Given the description of an element on the screen output the (x, y) to click on. 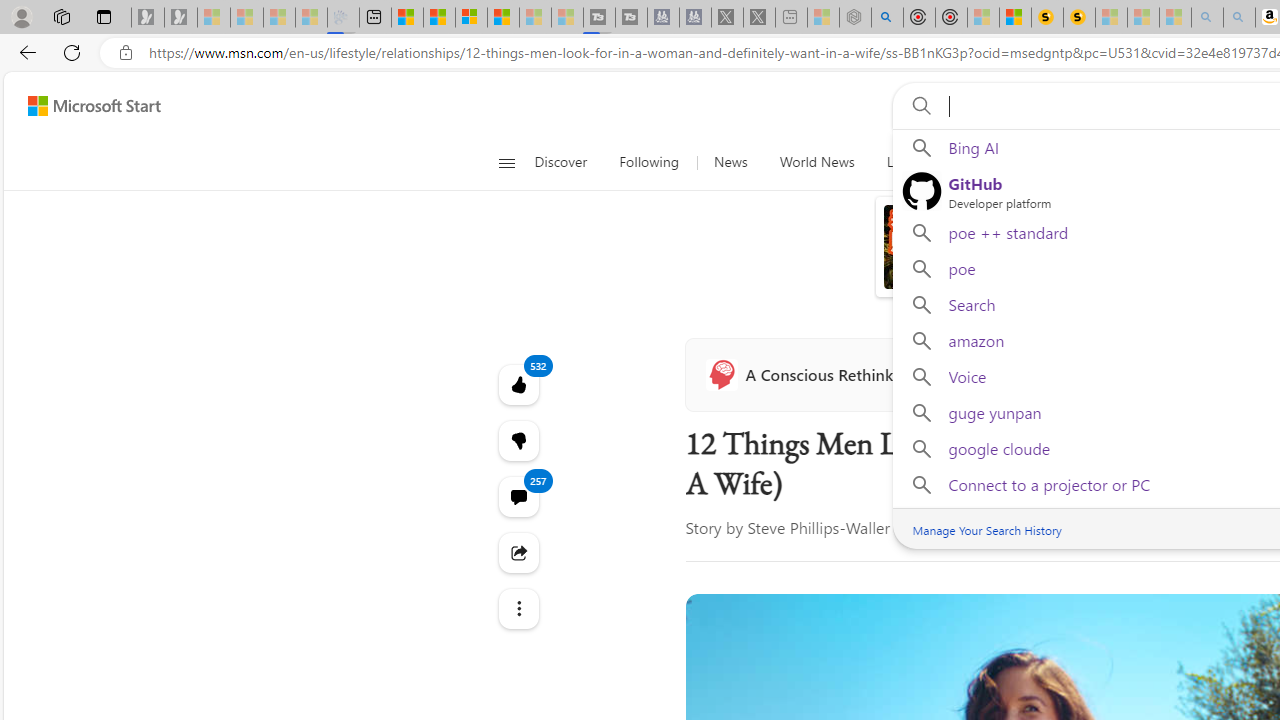
Wildlife - MSN - Sleeping (822, 17)
Local (902, 162)
Science (973, 162)
World News (817, 162)
More like this532Fewer like thisView comments (517, 440)
Politics (1220, 162)
A Conscious Rethink (803, 374)
Crime (1149, 162)
